Given the description of an element on the screen output the (x, y) to click on. 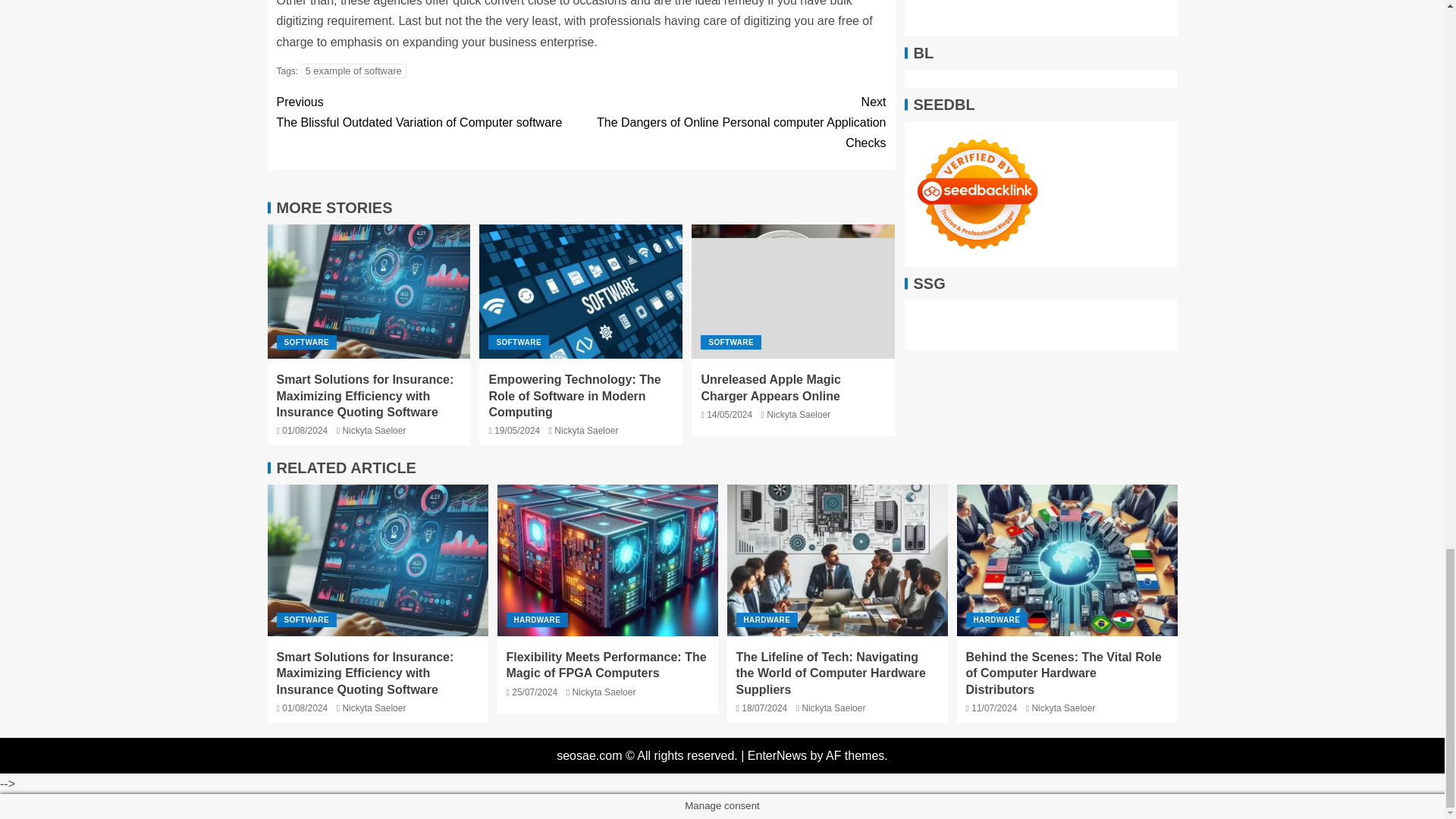
Flexibility Meets Performance: The Magic of FPGA Computers (607, 560)
Nickyta Saeloer (585, 430)
SOFTWARE (730, 341)
Nickyta Saeloer (374, 430)
SOFTWARE (517, 341)
SOFTWARE (306, 341)
Unreleased Apple Magic Charger Appears Online (770, 387)
5 example of software (353, 70)
